Given the description of an element on the screen output the (x, y) to click on. 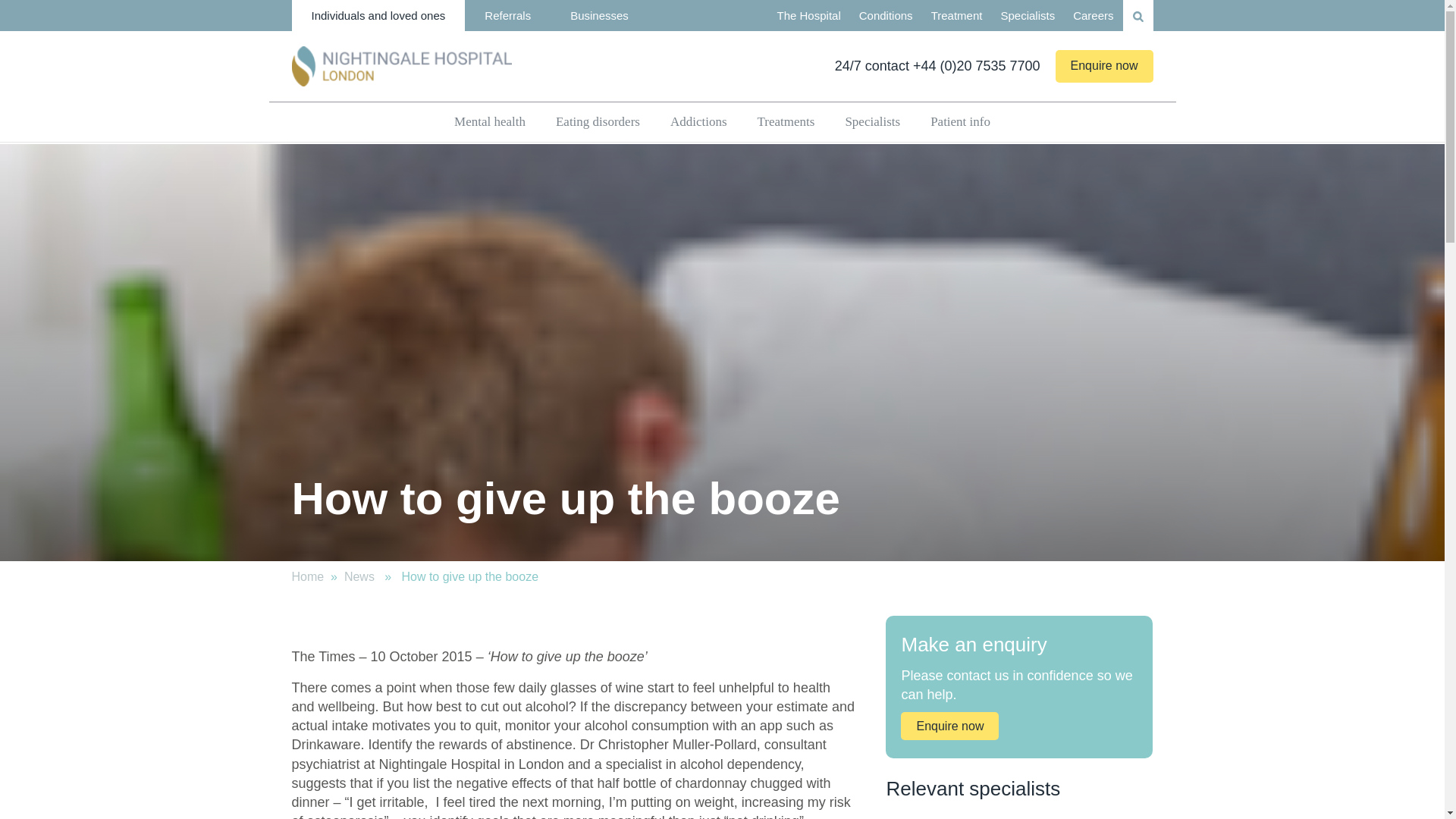
The Hospital (809, 15)
Specialists (1027, 15)
blog (358, 576)
Enquire now (1104, 65)
Businesses (598, 15)
Treatment (956, 15)
Referrals (507, 15)
Individuals and loved ones (377, 15)
Careers (1093, 15)
Mental health (489, 121)
